Given the description of an element on the screen output the (x, y) to click on. 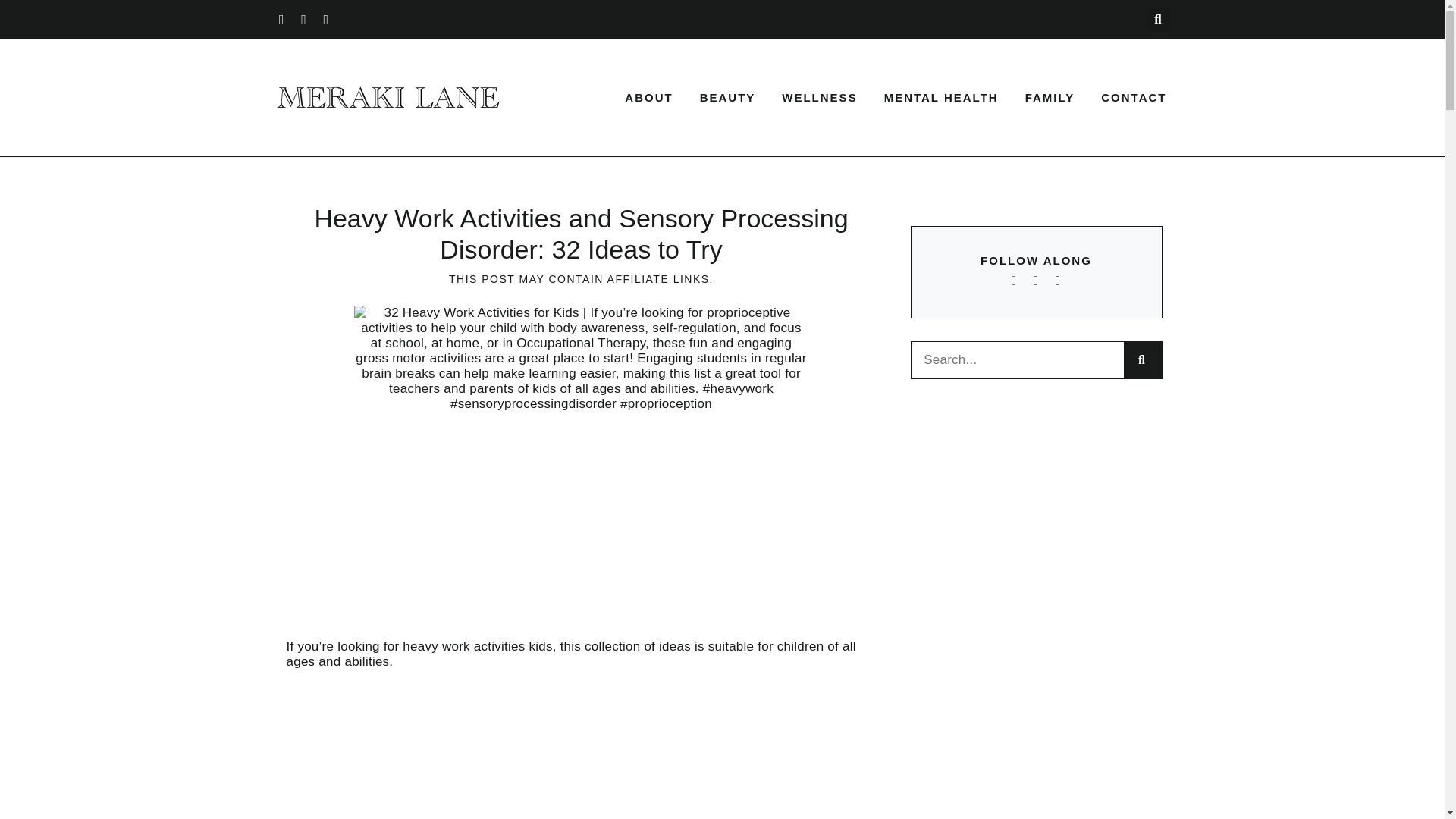
BEAUTY (727, 97)
WELLNESS (819, 97)
ABOUT (648, 97)
